Given the description of an element on the screen output the (x, y) to click on. 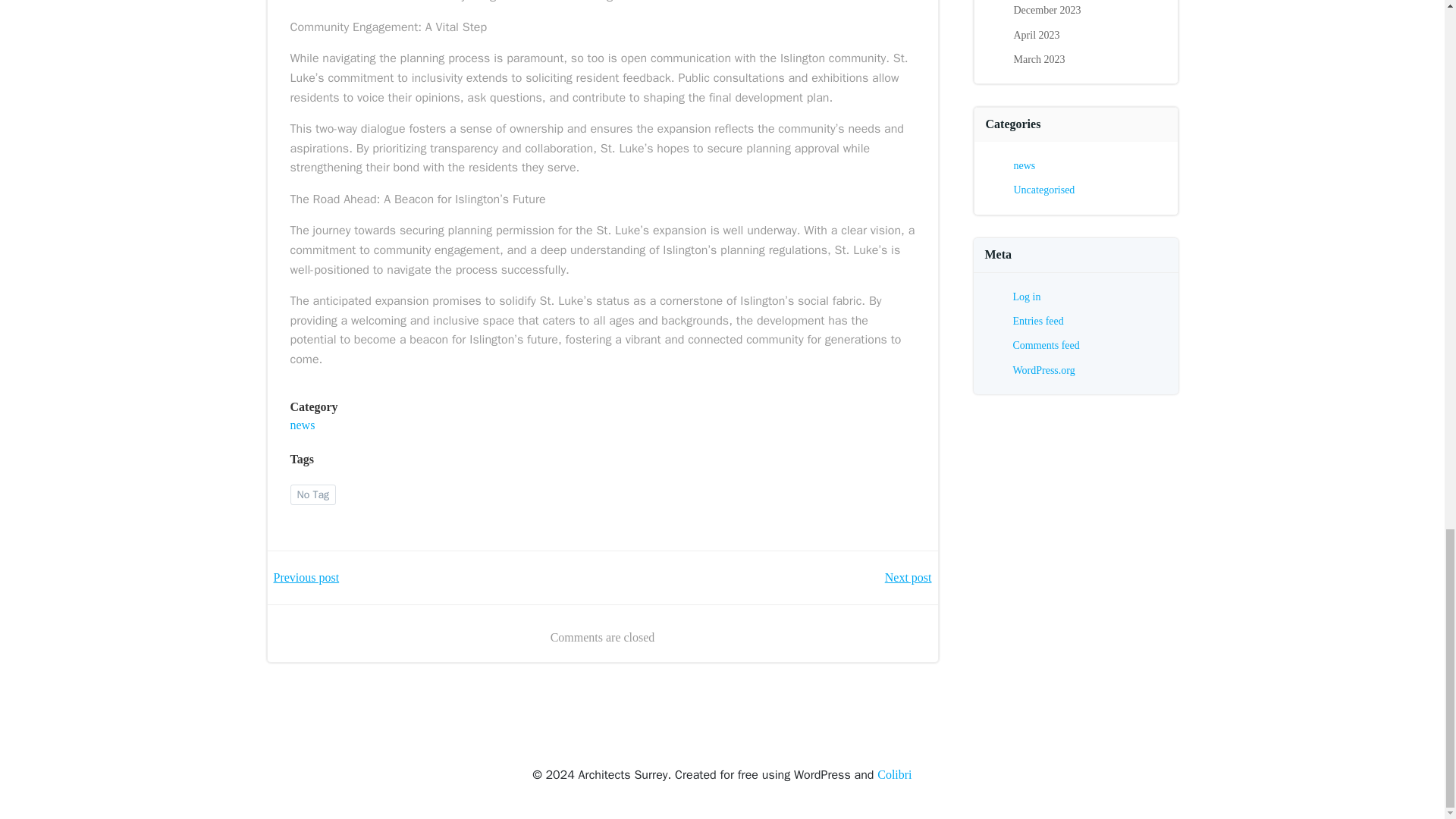
Previous post (306, 577)
Next post (908, 577)
news (301, 425)
